Given the description of an element on the screen output the (x, y) to click on. 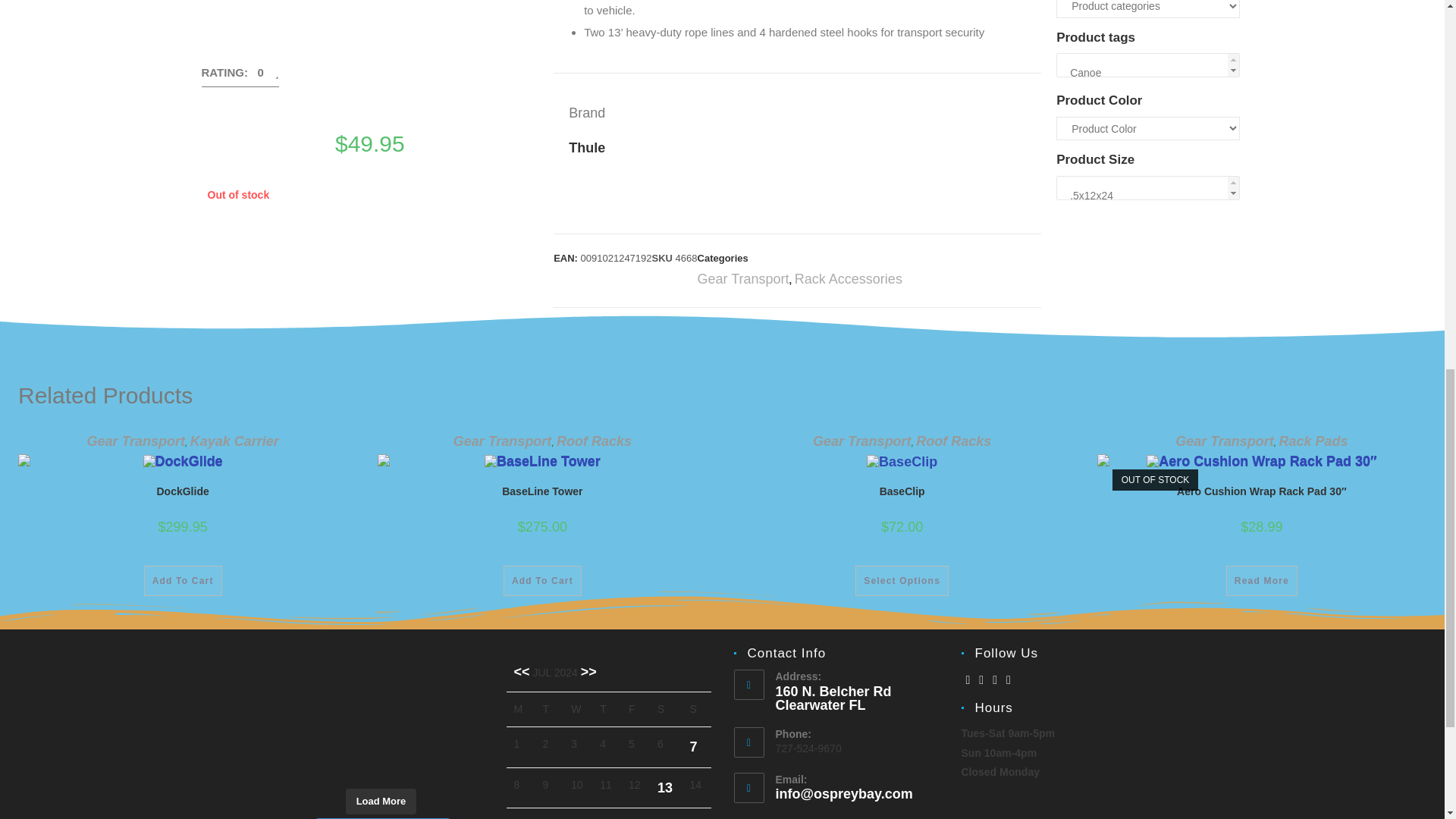
Demo Day July 13, 2024 (665, 787)
